Given the description of an element on the screen output the (x, y) to click on. 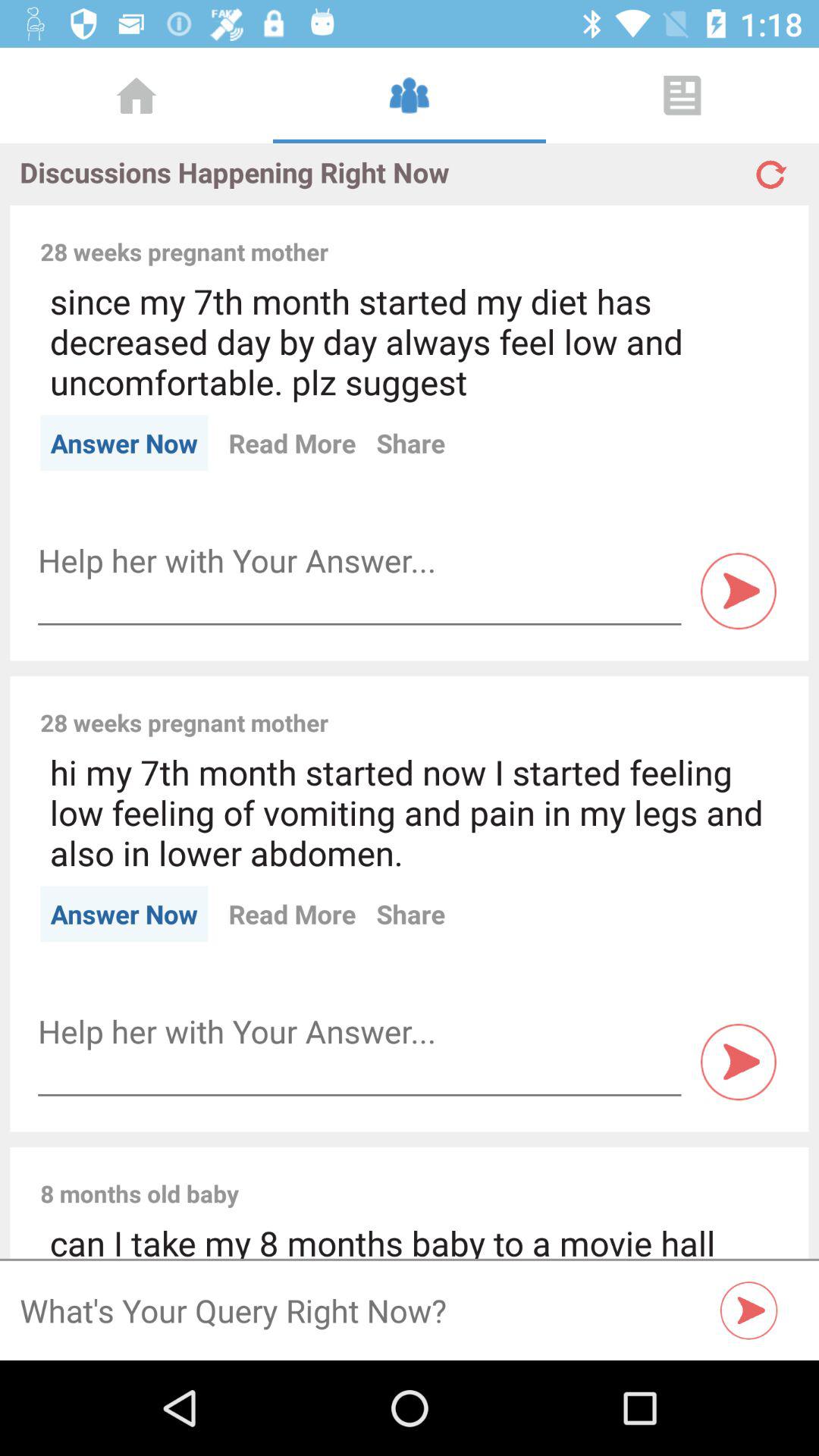
enter your answer (359, 560)
